Given the description of an element on the screen output the (x, y) to click on. 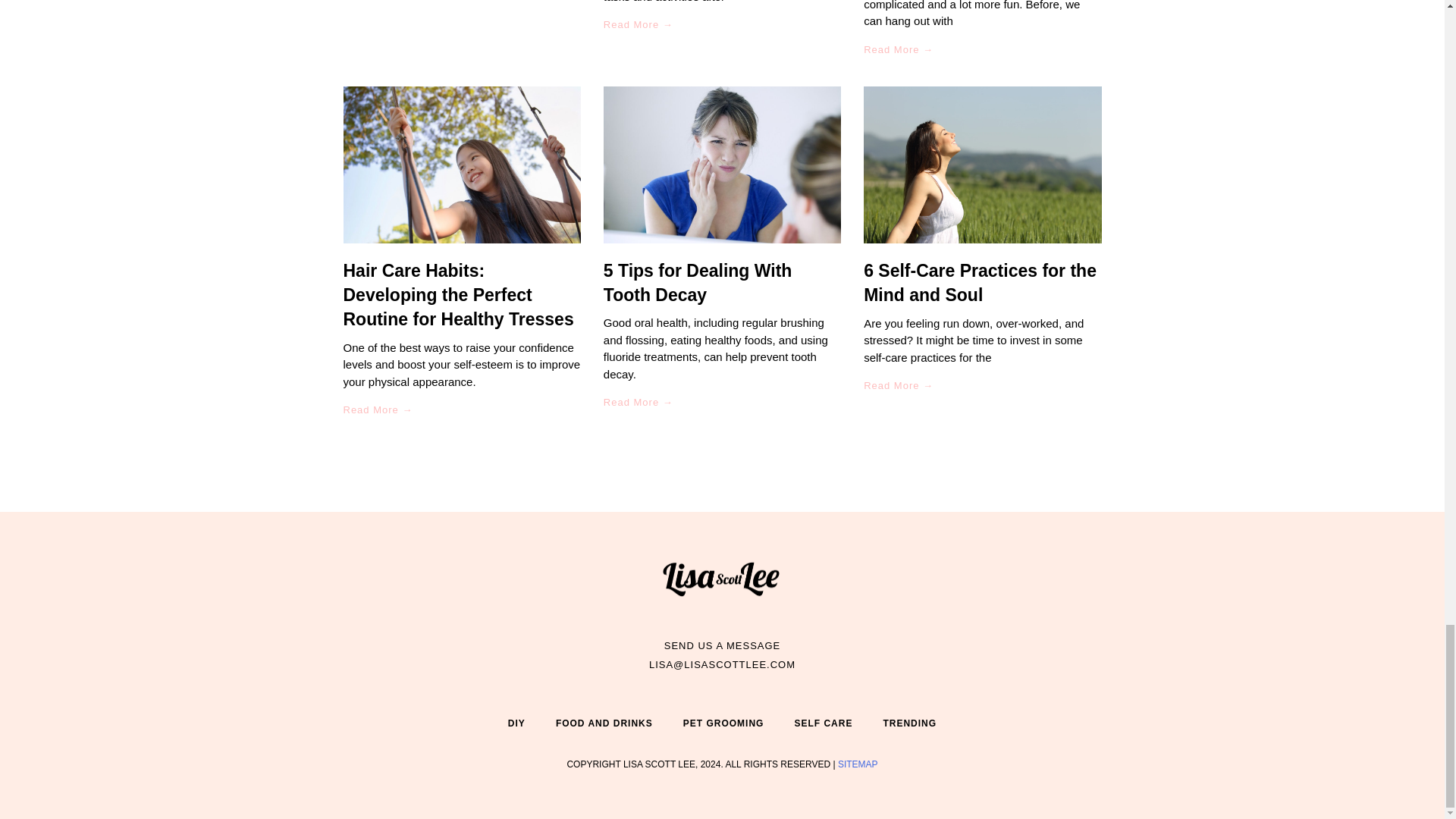
5 Tips for Dealing With Tooth Decay (698, 282)
FOOD AND DRINKS (604, 723)
TRENDING (909, 723)
PET GROOMING (723, 723)
6 Self-Care Practices for the Mind and Soul (979, 282)
SELF CARE (822, 723)
DIY (516, 723)
